Given the description of an element on the screen output the (x, y) to click on. 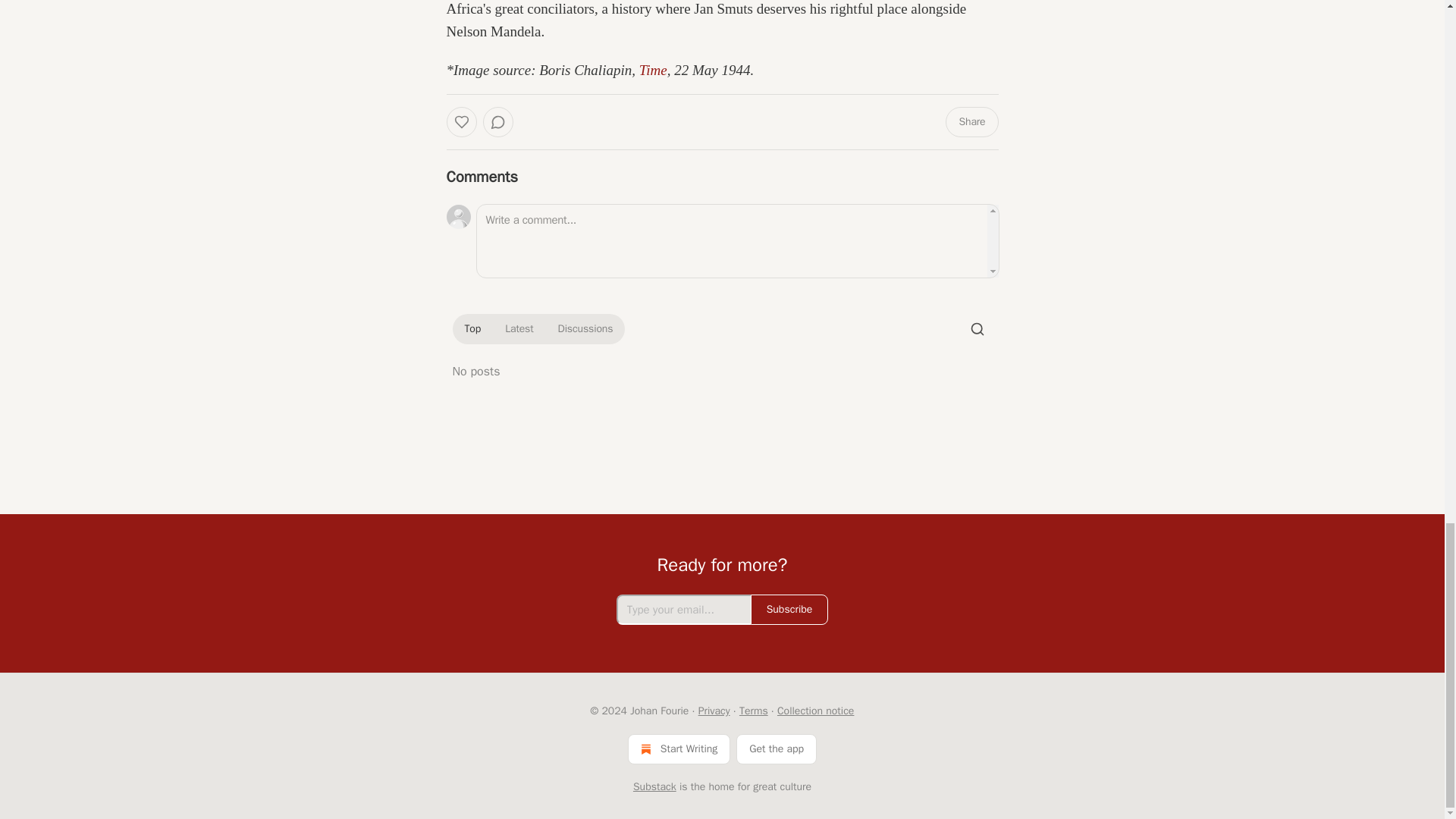
Terms (753, 710)
Discussions (585, 328)
Time (652, 69)
Privacy (714, 710)
Share (970, 122)
Subscribe (789, 609)
Top (471, 328)
Latest (518, 328)
